Given the description of an element on the screen output the (x, y) to click on. 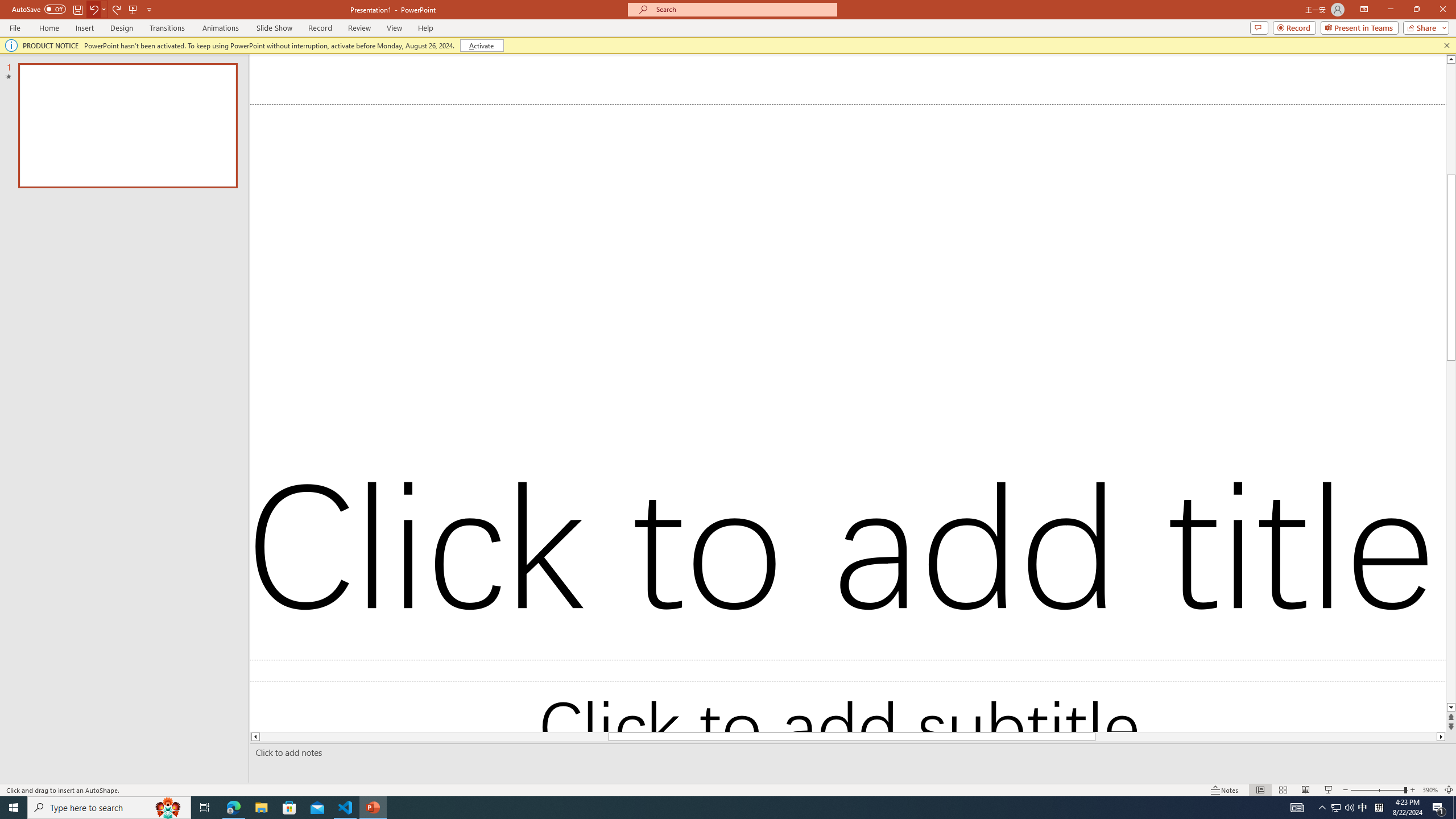
Zoom 390% (1430, 790)
